Given the description of an element on the screen output the (x, y) to click on. 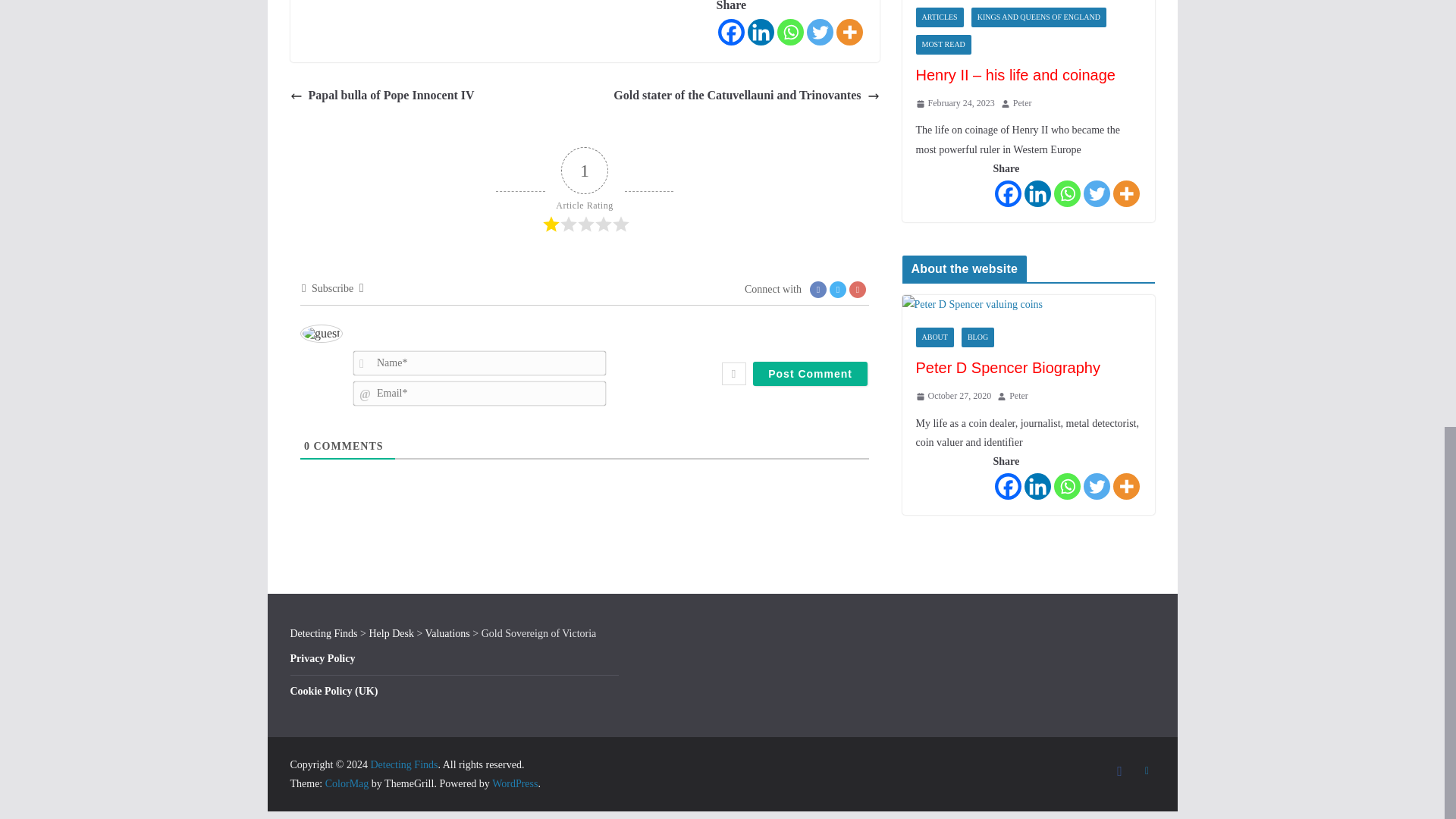
Linkedin (761, 31)
More (848, 31)
Whatsapp (789, 31)
Papal bulla of Pope Innocent IV (381, 96)
Twitter (819, 31)
Post Comment (809, 373)
Facebook (730, 31)
